Given the description of an element on the screen output the (x, y) to click on. 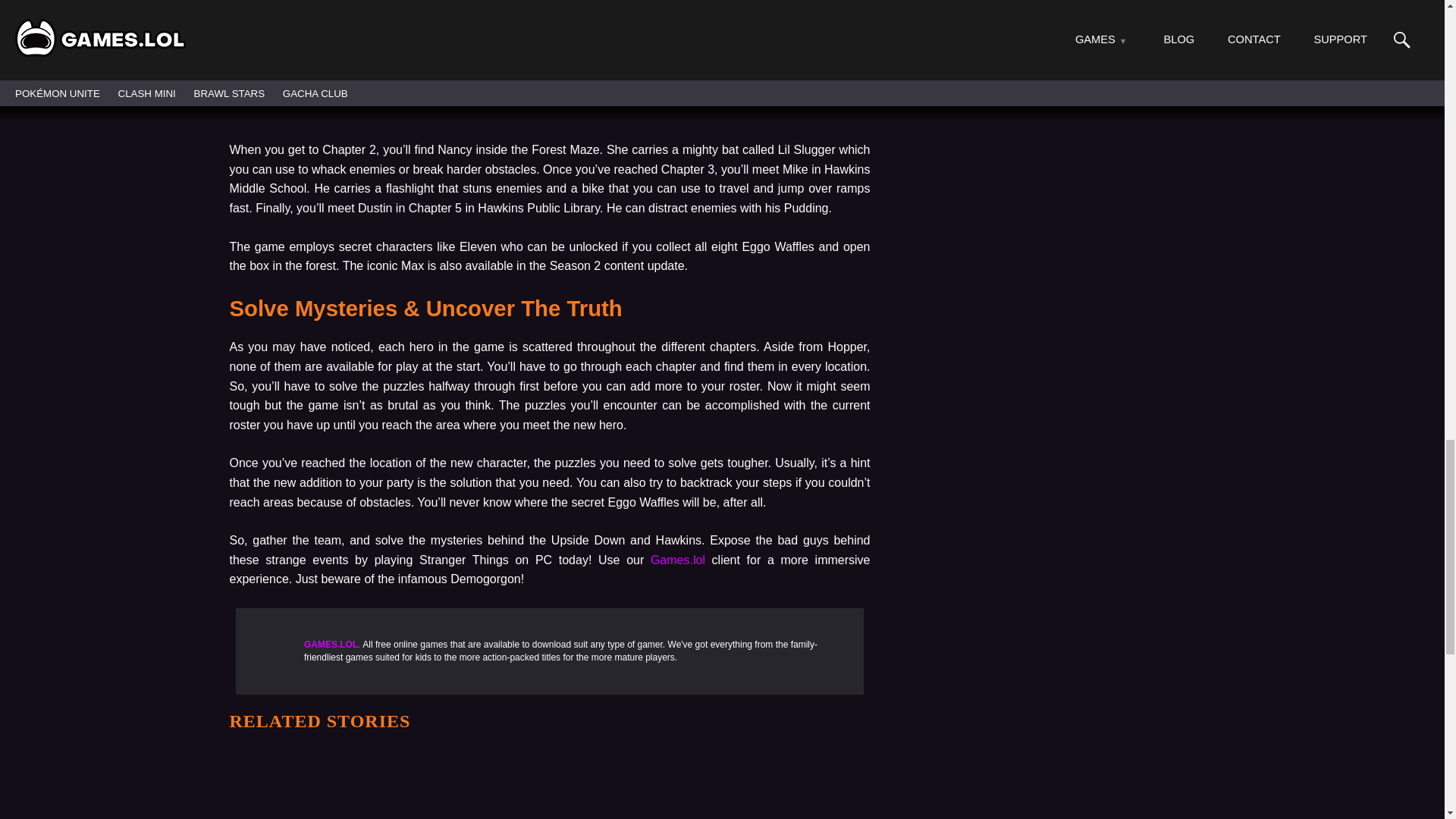
Games.lol (677, 559)
stranger things play (549, 51)
